Given the description of an element on the screen output the (x, y) to click on. 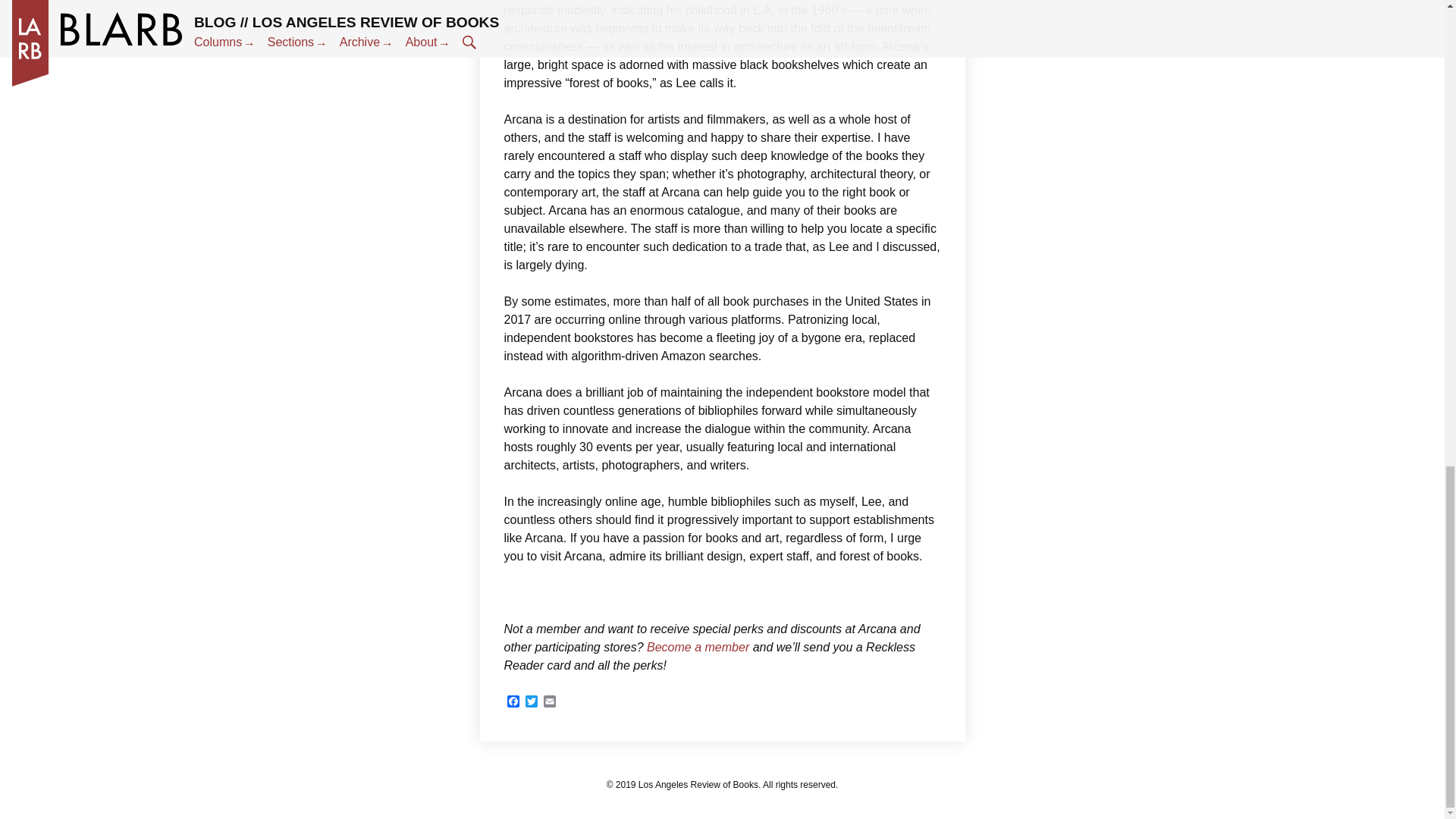
Facebook (512, 702)
Email (548, 702)
Twitter (530, 702)
